Given the description of an element on the screen output the (x, y) to click on. 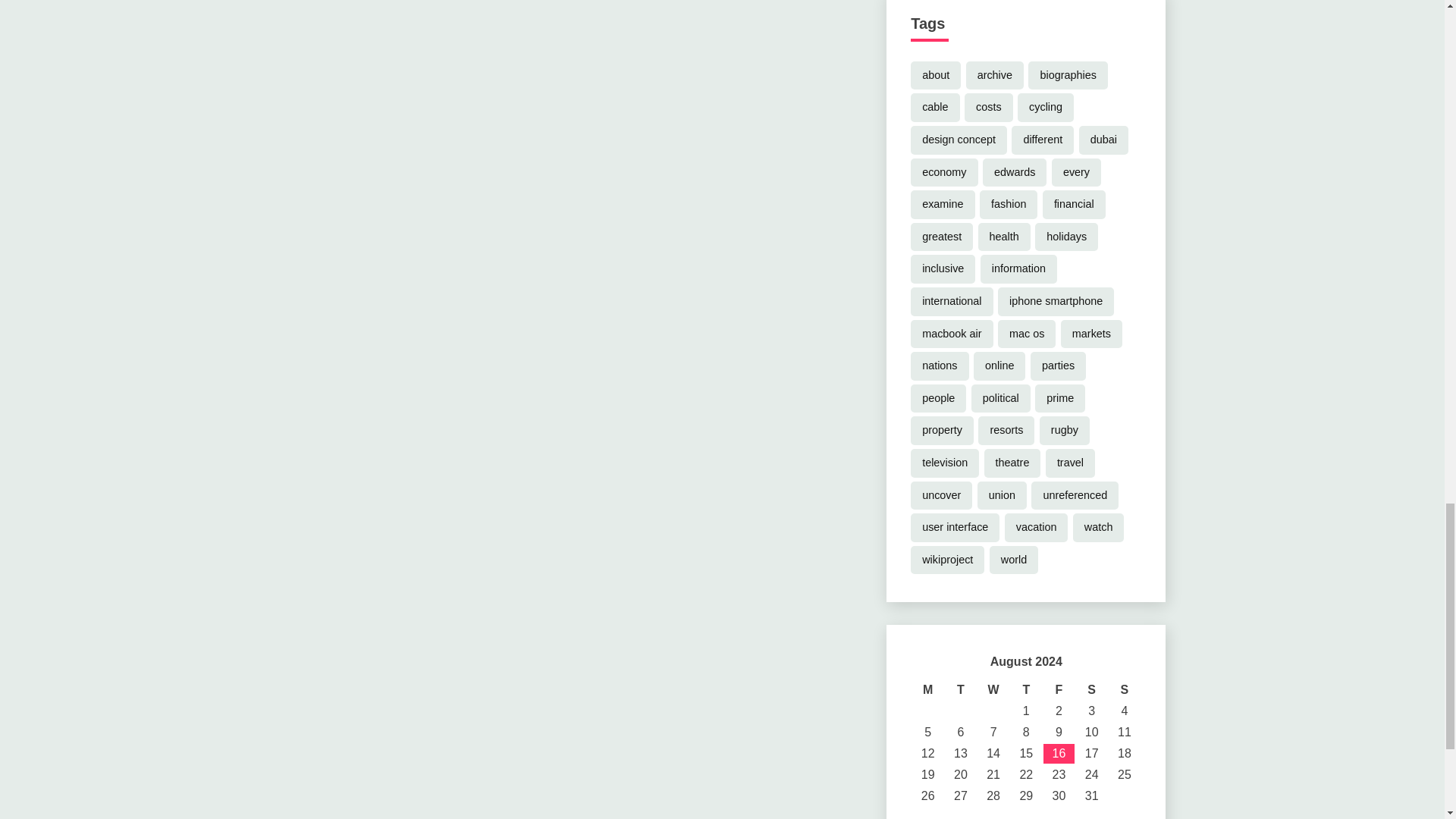
Thursday (1026, 690)
Tuesday (959, 690)
Saturday (1090, 690)
Sunday (1124, 690)
Monday (927, 690)
Friday (1058, 690)
Wednesday (993, 690)
